Given the description of an element on the screen output the (x, y) to click on. 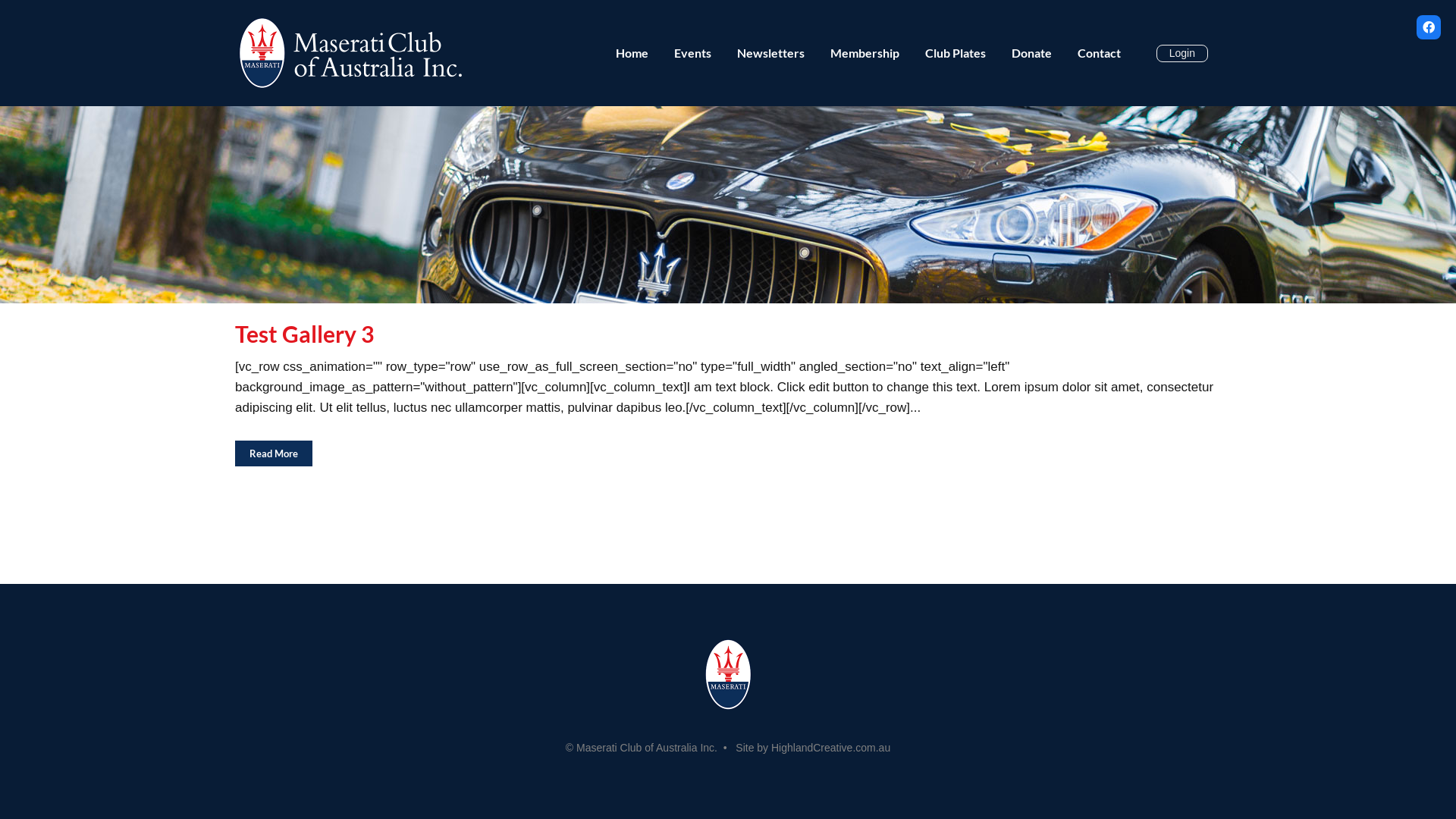
Membership Element type: text (864, 53)
Test Gallery 3 Element type: text (304, 333)
Home Element type: text (631, 53)
Facebook Element type: hover (1428, 27)
Club Plates Element type: text (955, 53)
Login Element type: hover (1182, 53)
Contact Element type: text (1098, 53)
Read More Element type: text (273, 453)
Events Element type: text (692, 53)
Donate Element type: text (1031, 53)
Login Element type: text (1182, 53)
Newsletters Element type: text (770, 53)
